Given the description of an element on the screen output the (x, y) to click on. 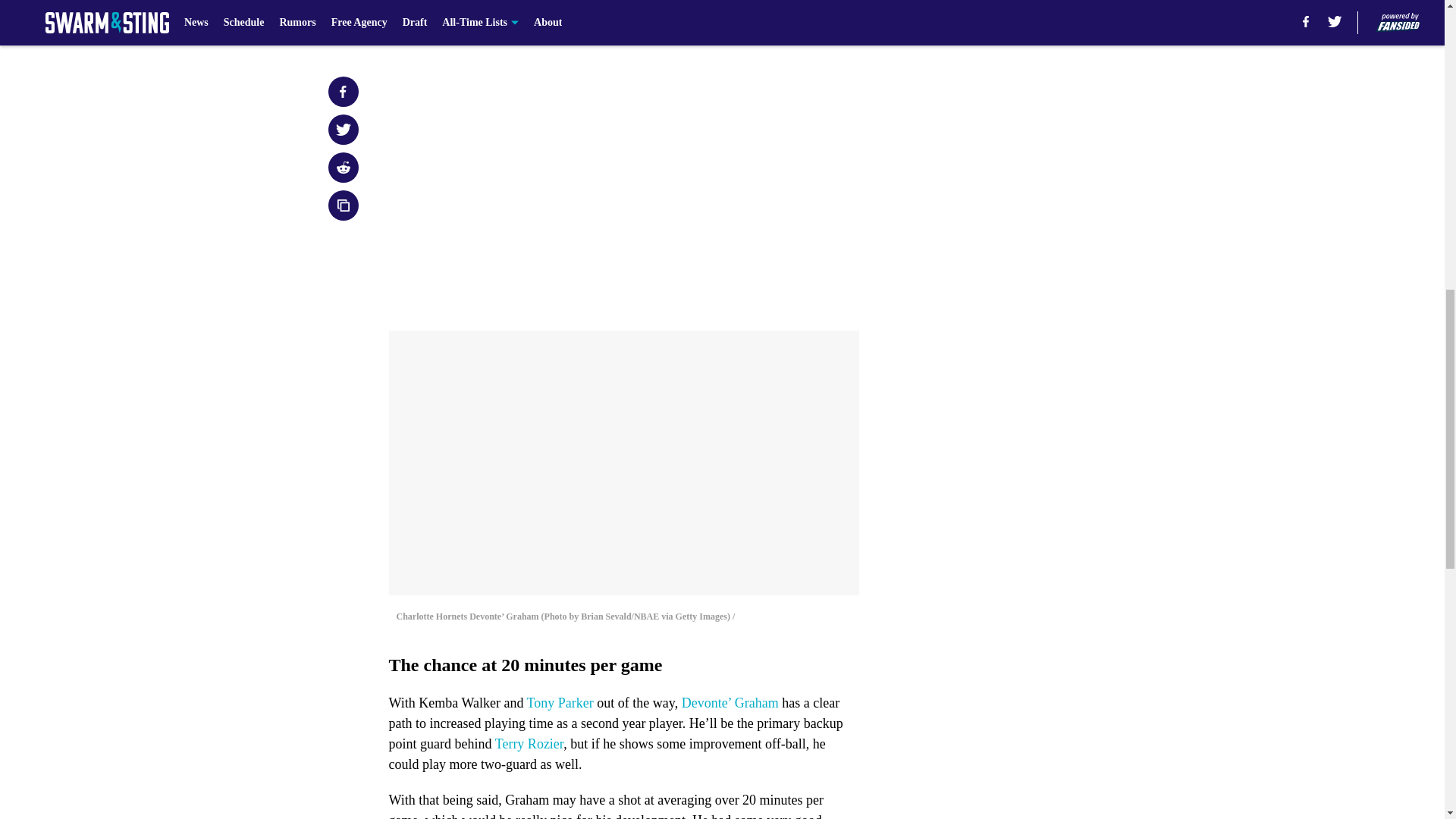
Prev (433, 20)
Terry Rozier (529, 743)
Next (813, 20)
Tony Parker (560, 702)
